Given the description of an element on the screen output the (x, y) to click on. 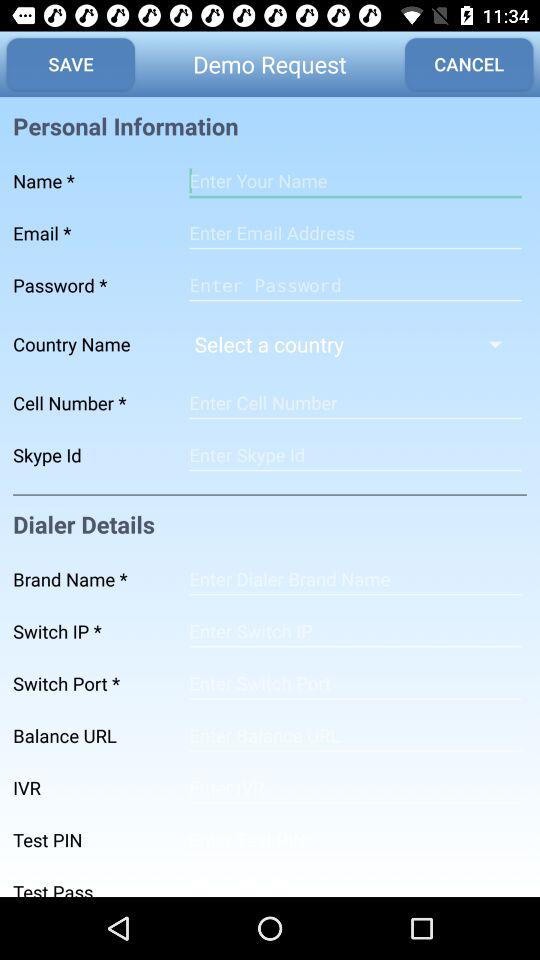
text box (355, 233)
